Given the description of an element on the screen output the (x, y) to click on. 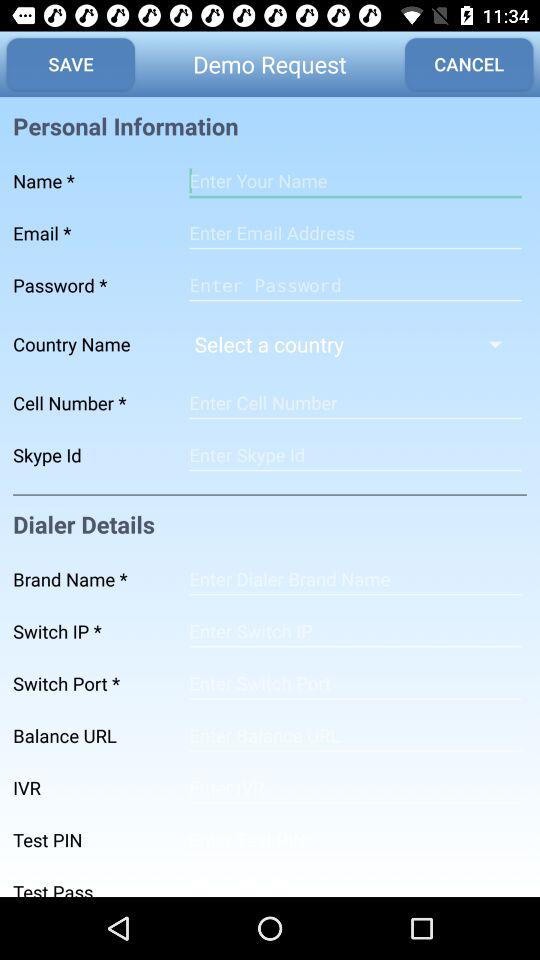
text box (355, 233)
